Given the description of an element on the screen output the (x, y) to click on. 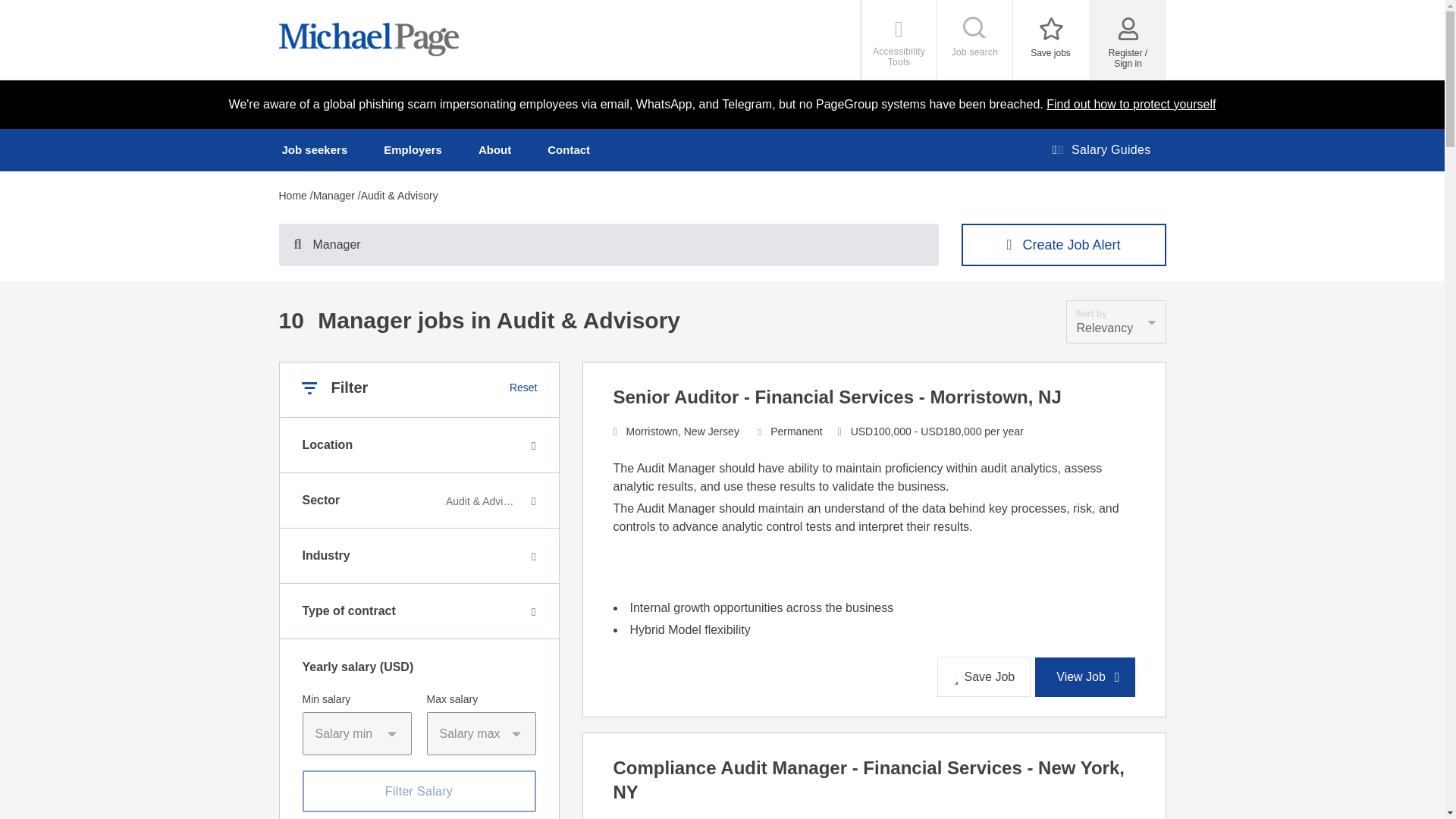
Find out how to protect yourself (1130, 103)
Job search (975, 40)
Employers (1051, 40)
Accessibility Tools (413, 149)
Job seekers (899, 40)
Filter Salary (314, 149)
Submit (418, 791)
